Given the description of an element on the screen output the (x, y) to click on. 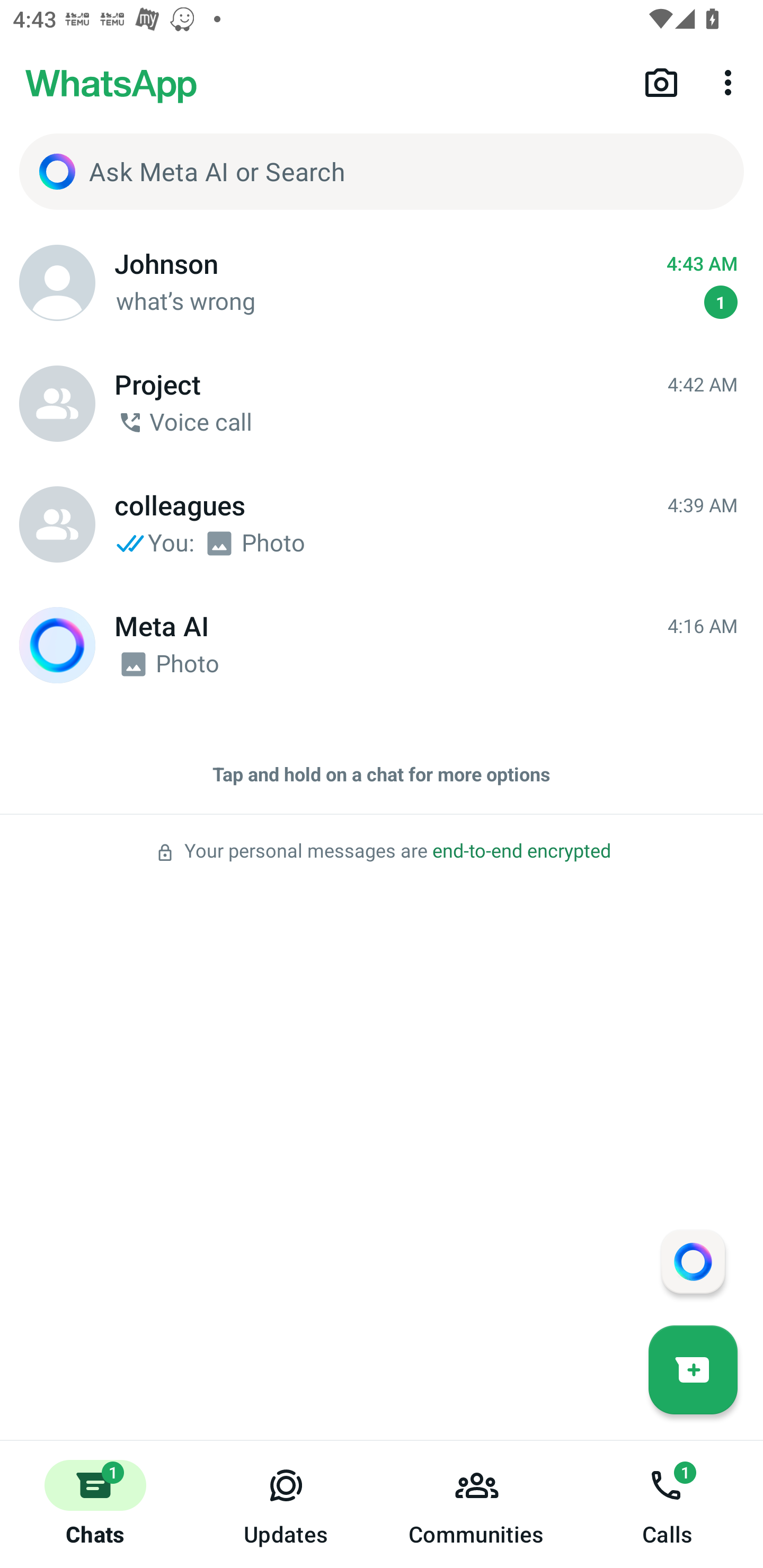
Camera (661, 81)
More options (731, 81)
Johnson (57, 282)
Project Project 4:42 AM 4:42 AM Voice call (381, 403)
Project (57, 403)
colleagues colleagues 4:39 AM 4:39 AM You:  Photo (381, 524)
colleagues (57, 524)
Meta AI Meta AI 4:16 AM 4:16 AM Photo (381, 644)
Meta AI (57, 644)
end-to-end encrypted (521, 851)
Message your assistant (692, 1261)
New chat (692, 1369)
Updates (285, 1504)
Communities (476, 1504)
Calls, 1 new notification Calls (667, 1504)
